Given the description of an element on the screen output the (x, y) to click on. 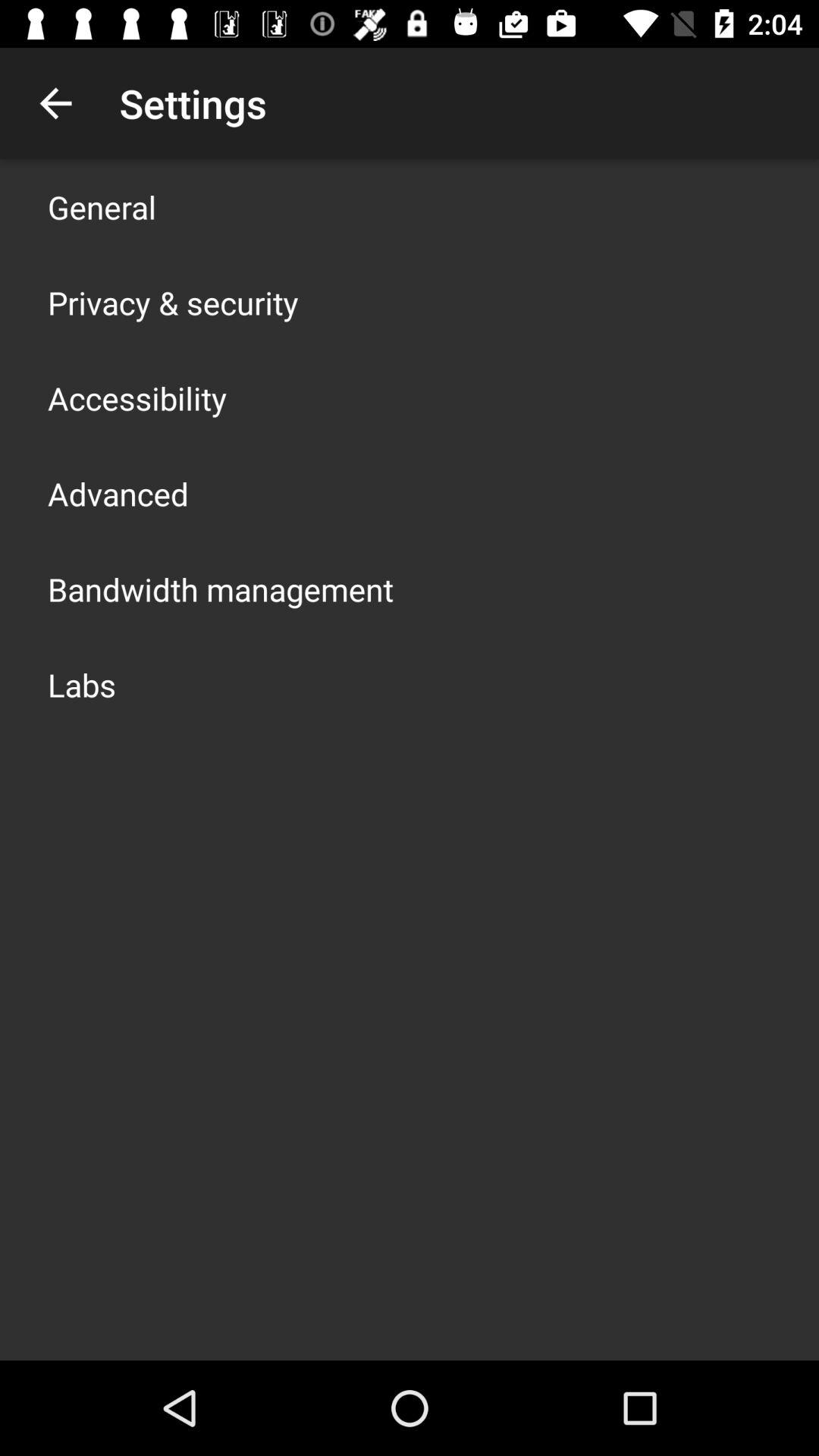
open the bandwidth management item (220, 588)
